Given the description of an element on the screen output the (x, y) to click on. 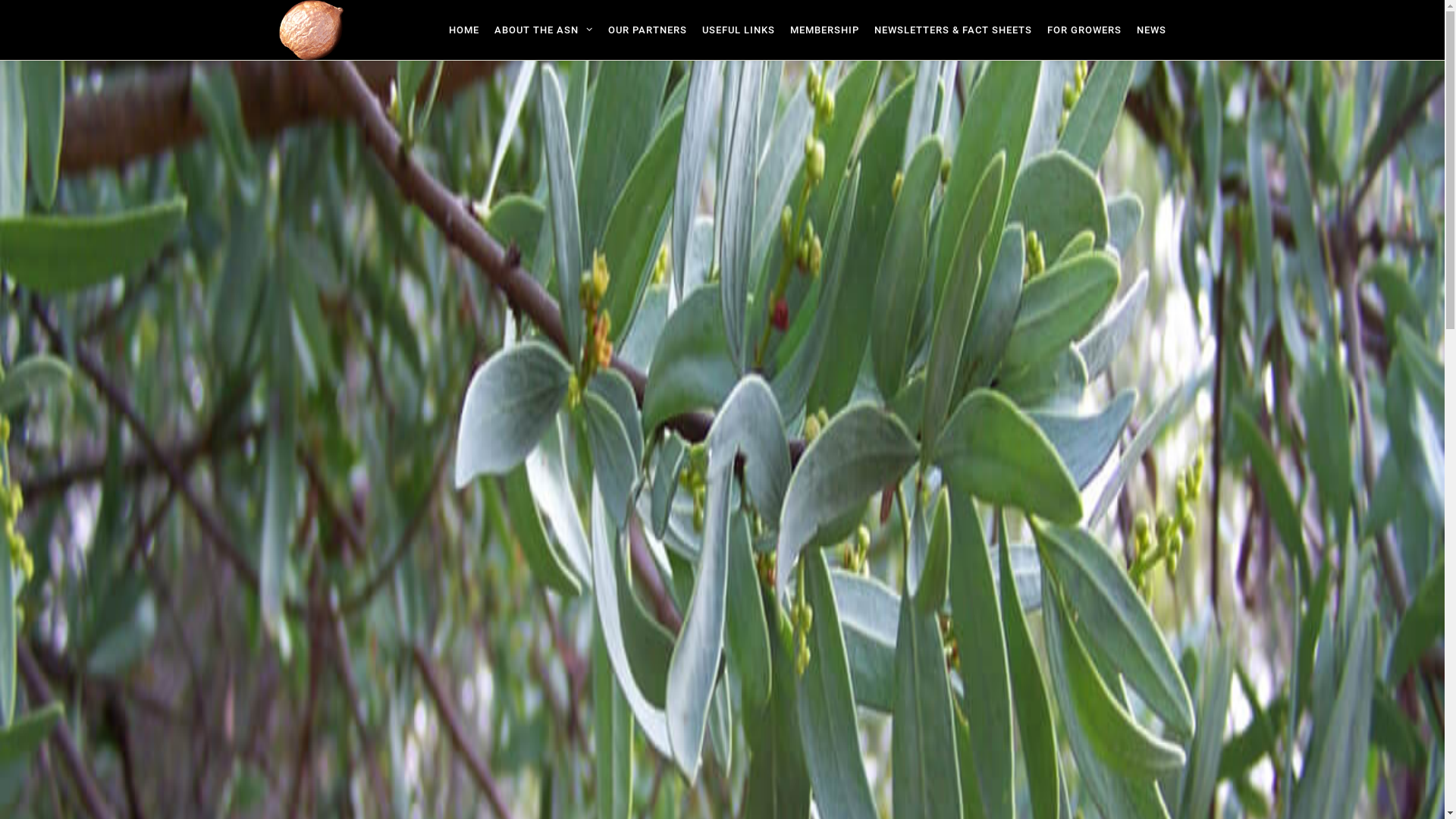
USEFUL LINKS Element type: text (738, 30)
Our Committee Element type: text (721, 699)
MEMBERSHIP Element type: text (824, 30)
Australian Sandalwood Network Element type: hover (311, 30)
NEWS Element type: text (1146, 30)
NEWSLETTERS & FACT SHEETS Element type: text (952, 30)
FOR GROWERS Element type: text (1083, 30)
OUR PARTNERS Element type: text (647, 30)
ABOUT THE ASN Element type: text (543, 30)
HOME Element type: text (463, 30)
